Given the description of an element on the screen output the (x, y) to click on. 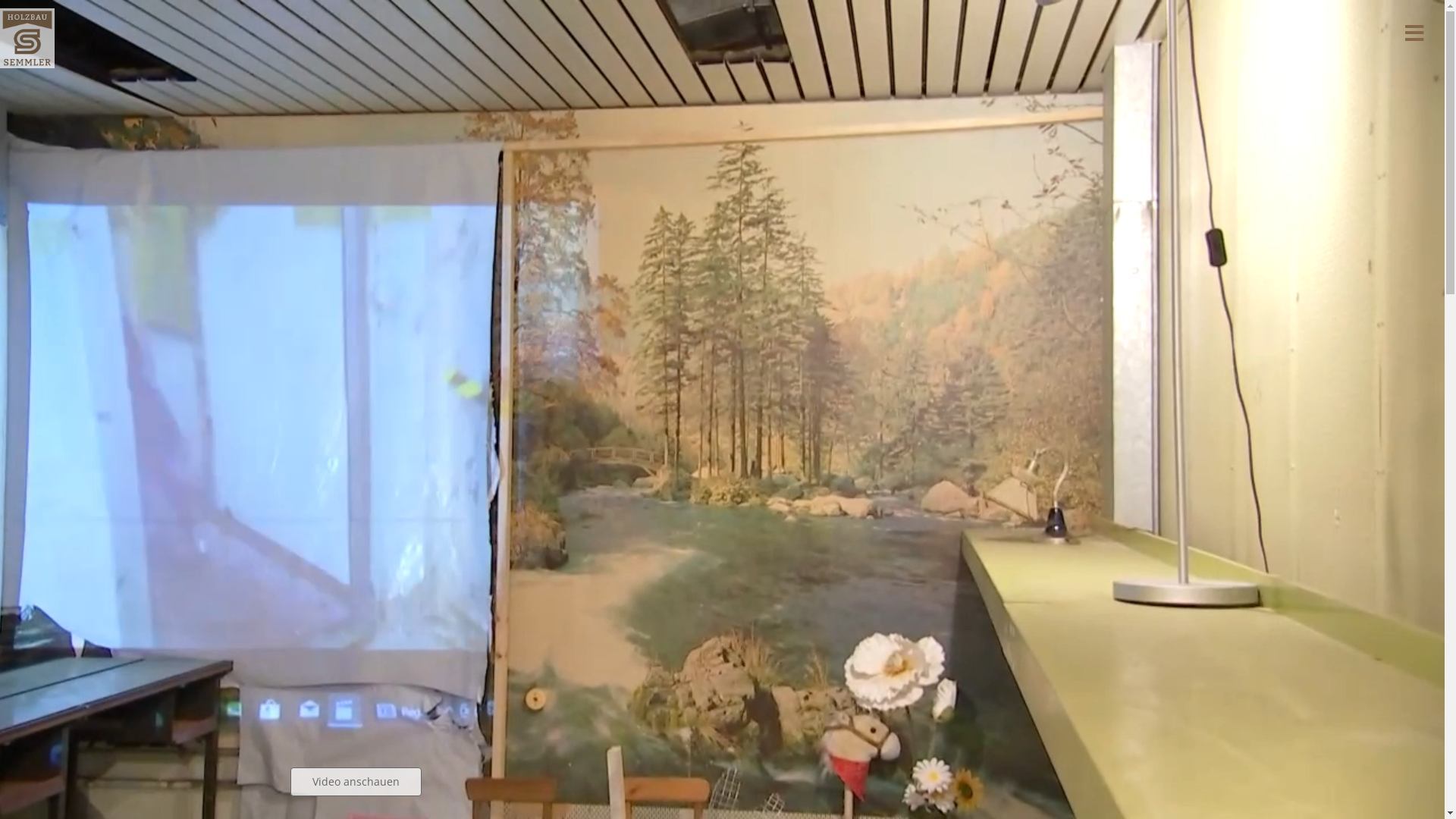
Menu Element type: hover (1413, 32)
Video anschauen Element type: text (354, 781)
